Given the description of an element on the screen output the (x, y) to click on. 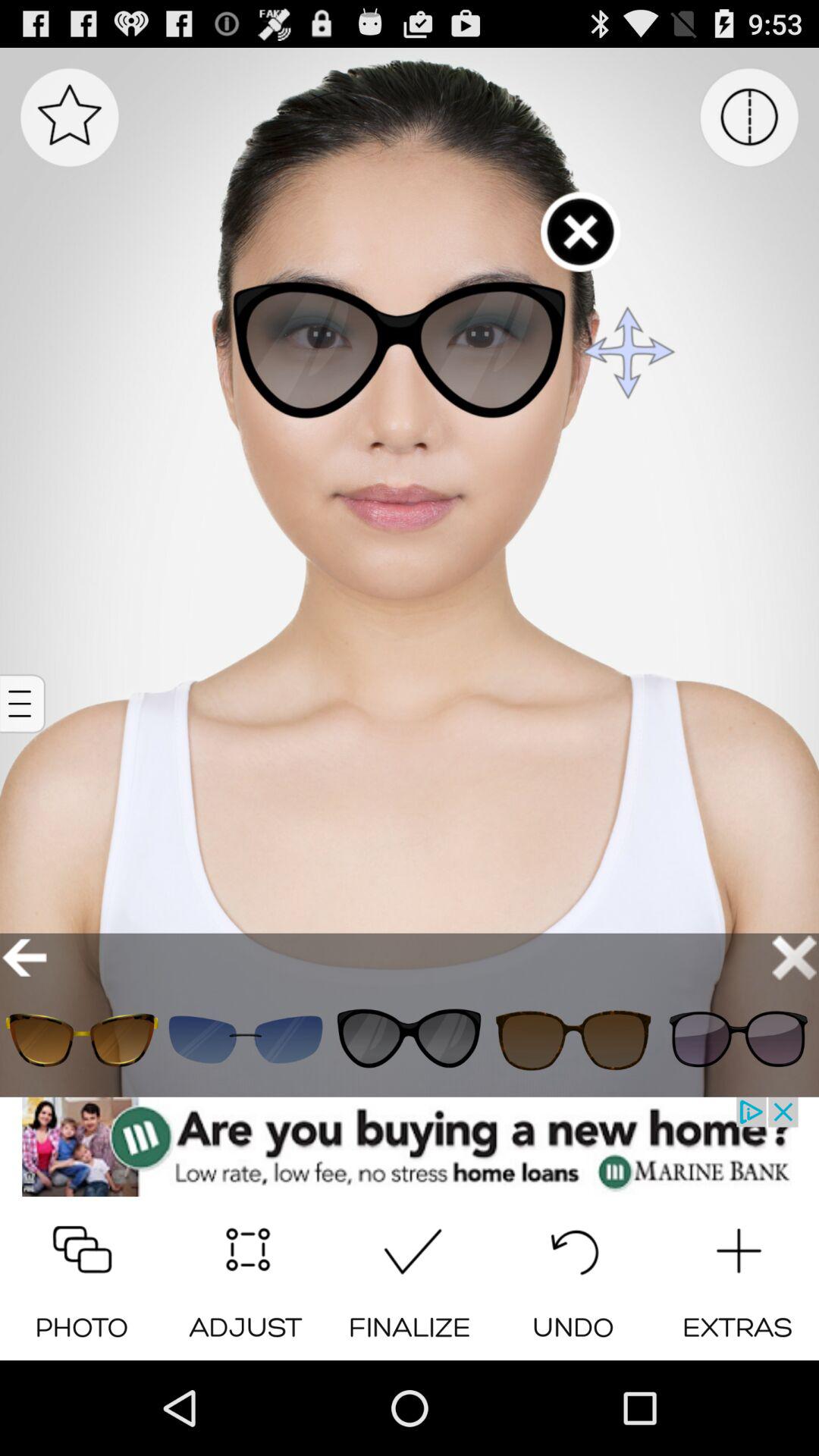
open options (24, 703)
